Given the description of an element on the screen output the (x, y) to click on. 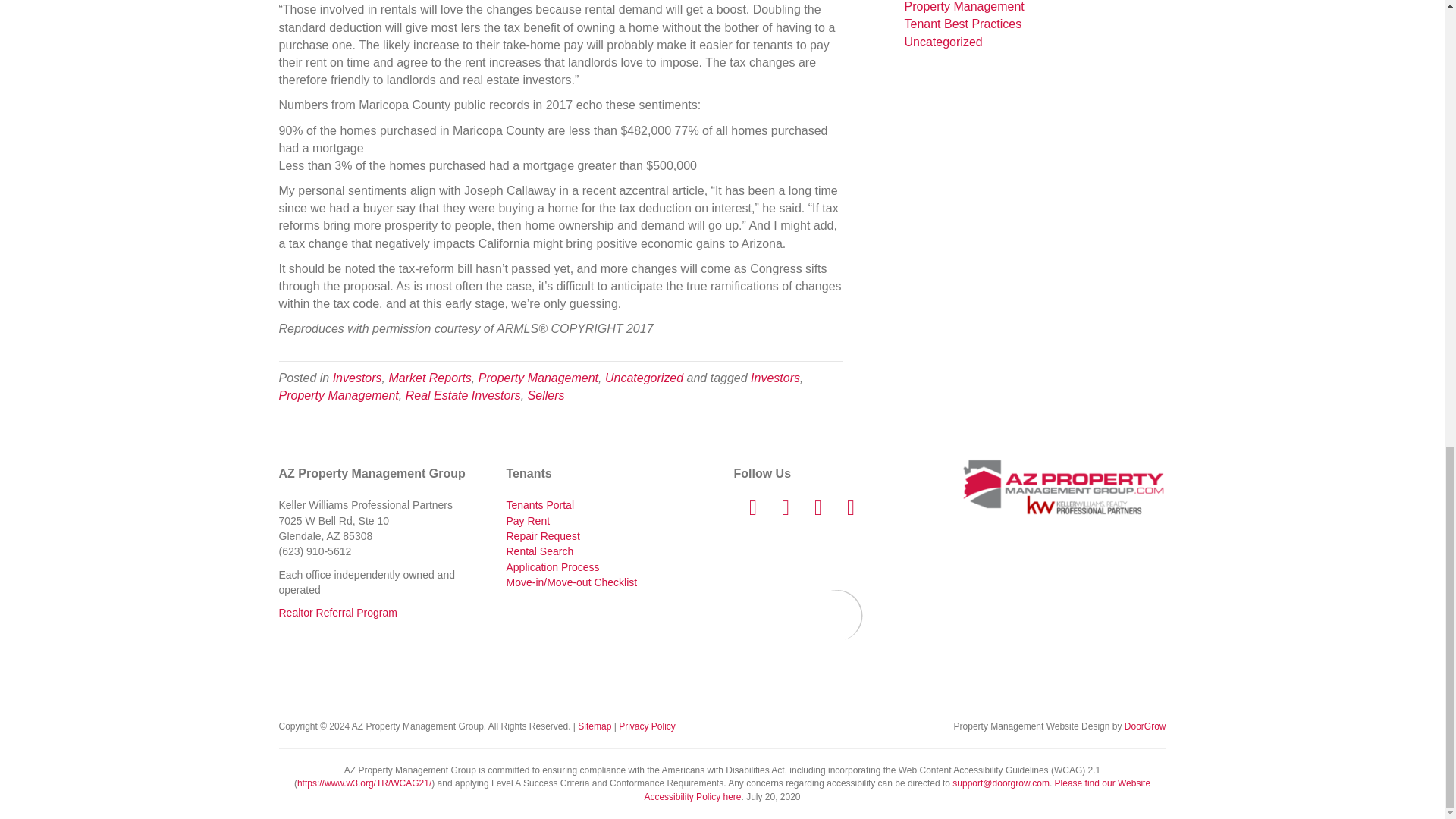
Sellers (545, 395)
Page 10 (561, 259)
Investors (775, 377)
Property Management (338, 395)
Real Estate Investors (463, 395)
Uncategorized (643, 377)
Investors (357, 377)
Market Reports (429, 377)
